Given the description of an element on the screen output the (x, y) to click on. 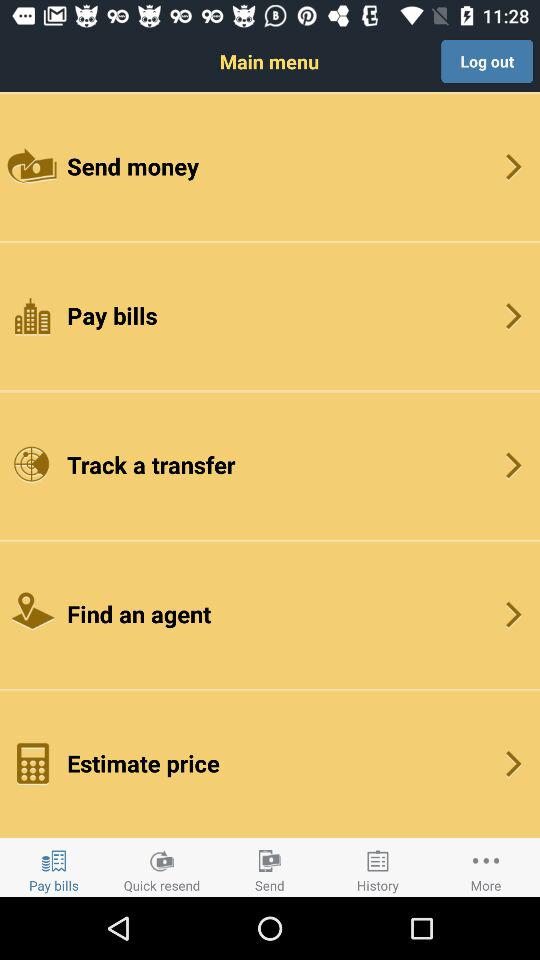
turn on item below pay bills icon (270, 464)
